Given the description of an element on the screen output the (x, y) to click on. 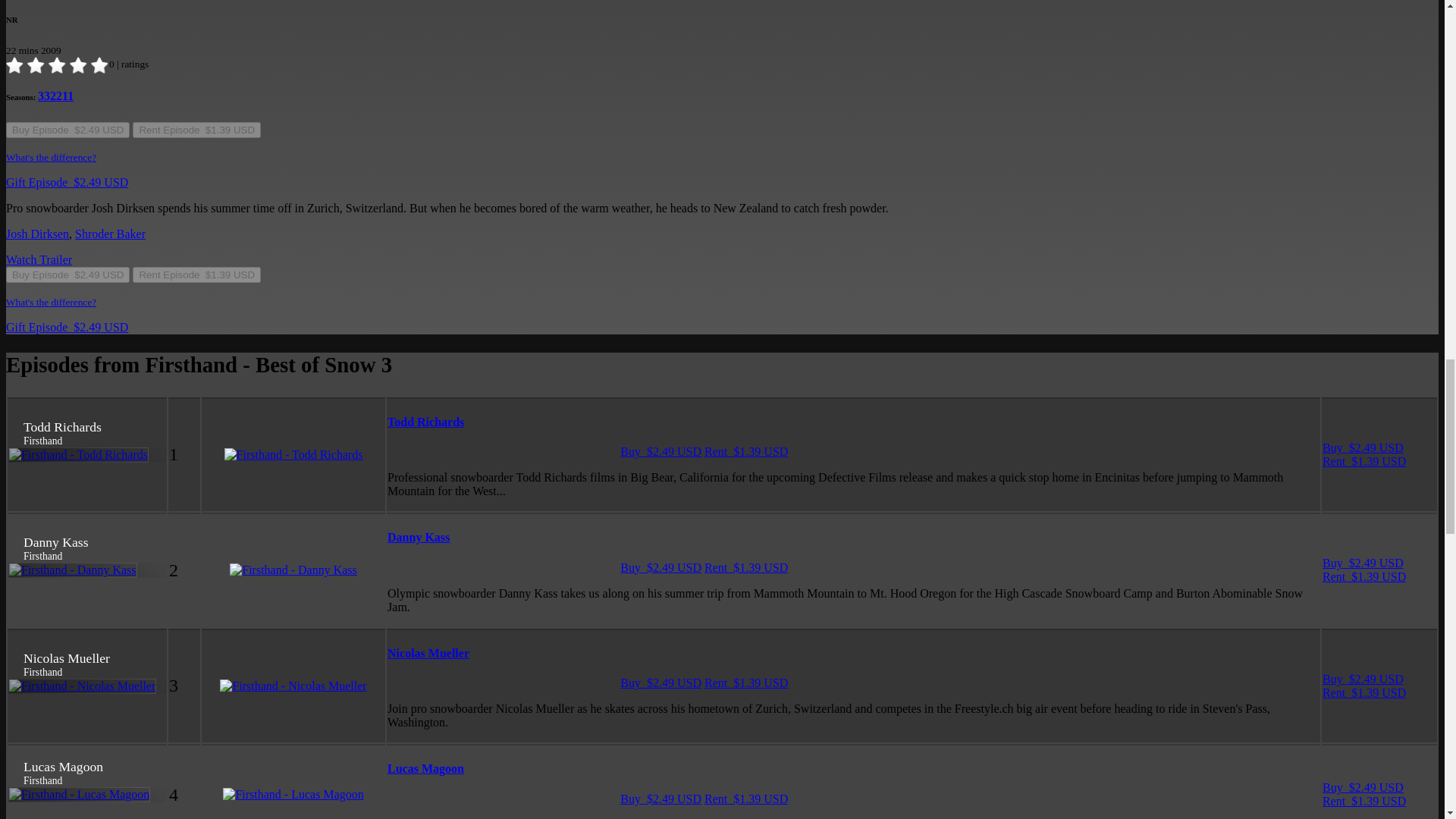
liked it (57, 65)
Todd Richards (425, 421)
loved it (99, 65)
Nicolas Mueller (427, 653)
Danny Kass (418, 536)
hated it (14, 65)
didn't like it (36, 65)
really like it (78, 65)
Lucas Magoon (425, 768)
